Given the description of an element on the screen output the (x, y) to click on. 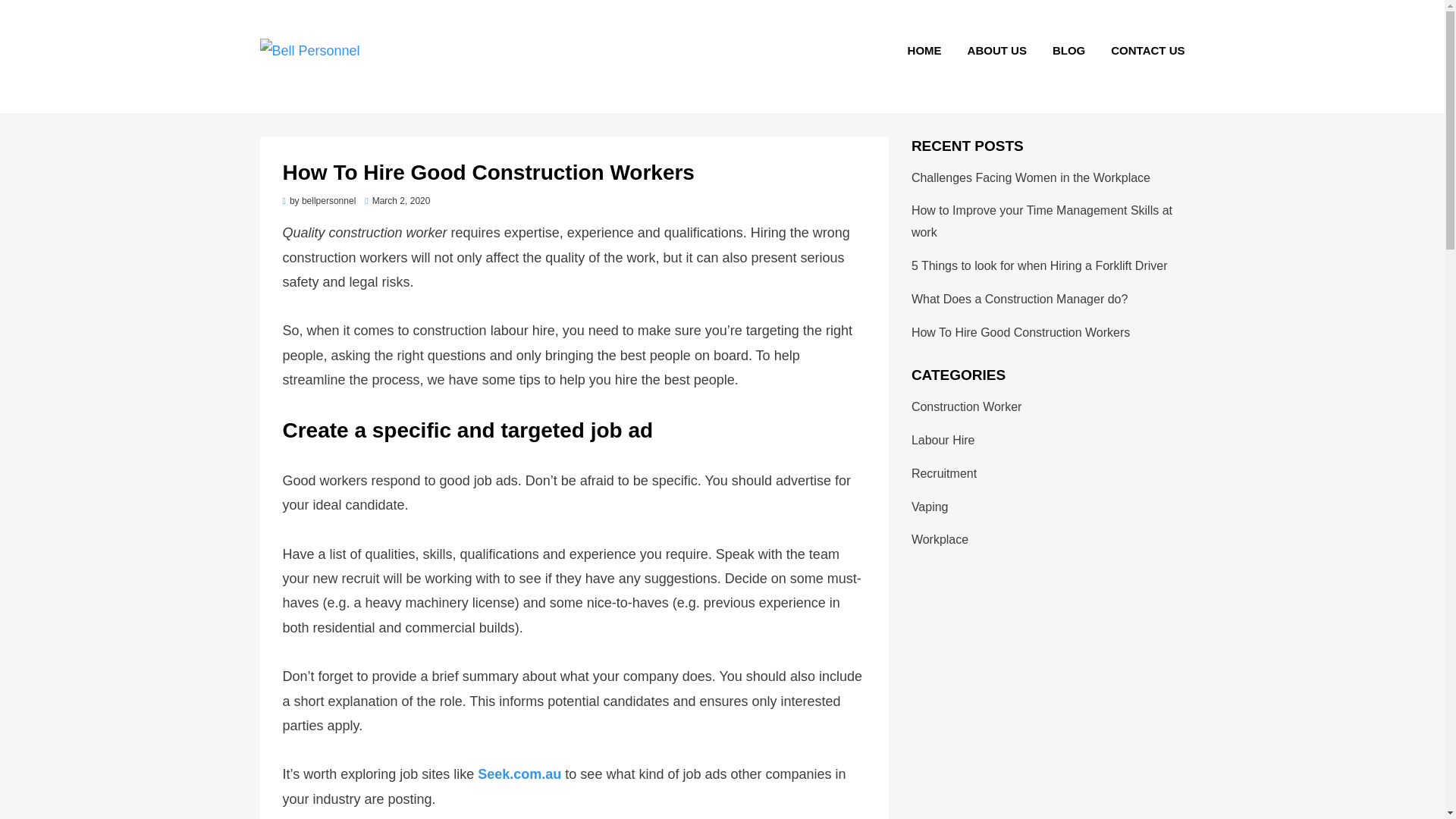
What Does a Construction Manager do? (1018, 298)
Labour Hire (943, 440)
bellpersonnel (328, 200)
HOME (925, 50)
Vaping (930, 506)
Workplace (939, 539)
Challenges Facing Women in the Workplace (1030, 177)
5 Things to look for when Hiring a Forklift Driver (1039, 265)
How to Improve your Time Management Skills at work (1041, 221)
How To Hire Good Construction Workers (1020, 332)
